Given the description of an element on the screen output the (x, y) to click on. 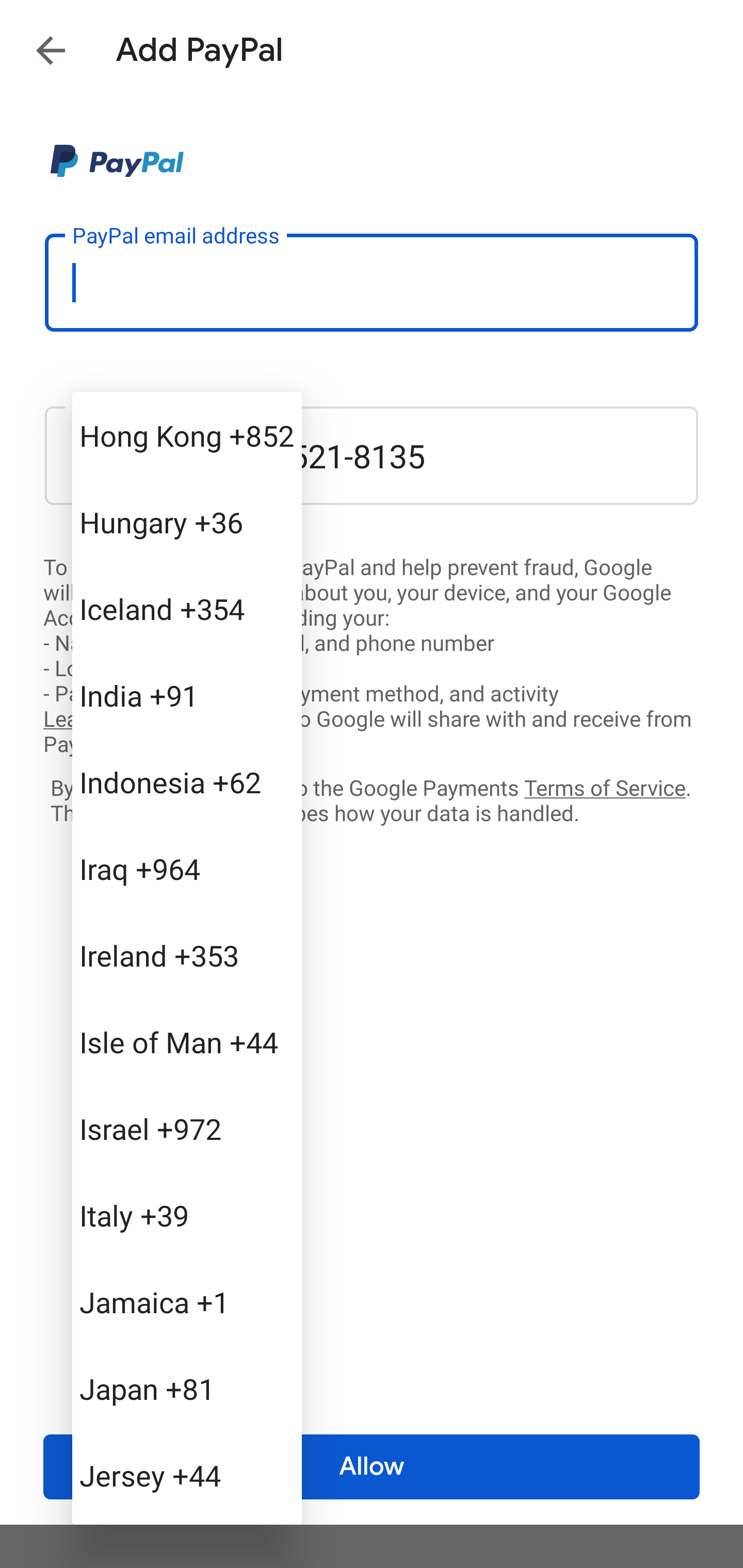
Hong Kong +852 (186, 435)
Hungary +36 (186, 522)
Iceland +354 (186, 609)
India +91 (186, 695)
Indonesia +62 (186, 781)
Iraq +964 (186, 868)
Ireland +353 (186, 955)
Isle of Man +44 (186, 1041)
Israel +972 (186, 1128)
Italy +39 (186, 1215)
Jamaica +1 (186, 1302)
Japan +81 (186, 1388)
Jersey +44 (186, 1474)
